Given the description of an element on the screen output the (x, y) to click on. 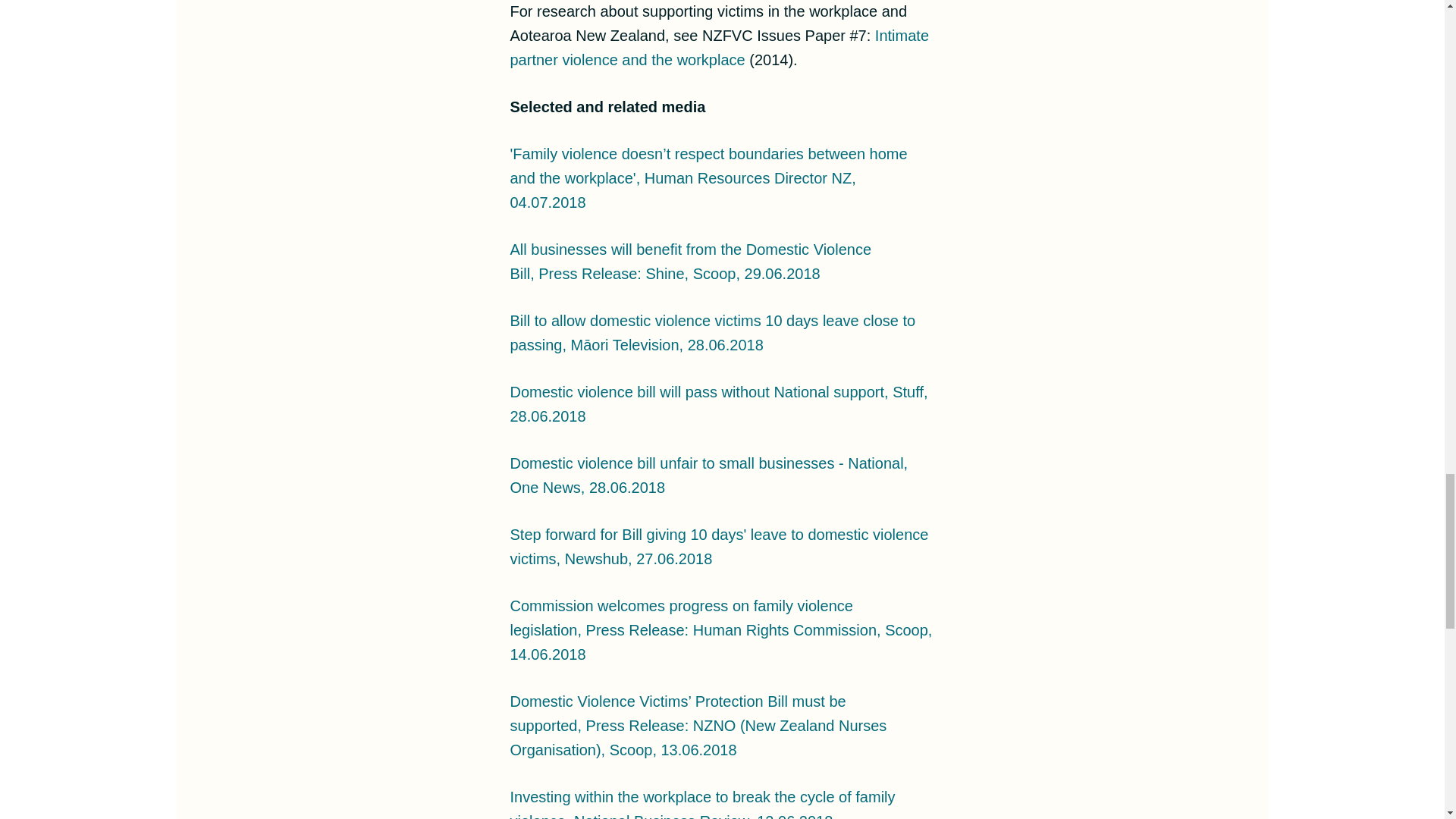
Intimate partner violence and the workplace  (718, 47)
